Given the description of an element on the screen output the (x, y) to click on. 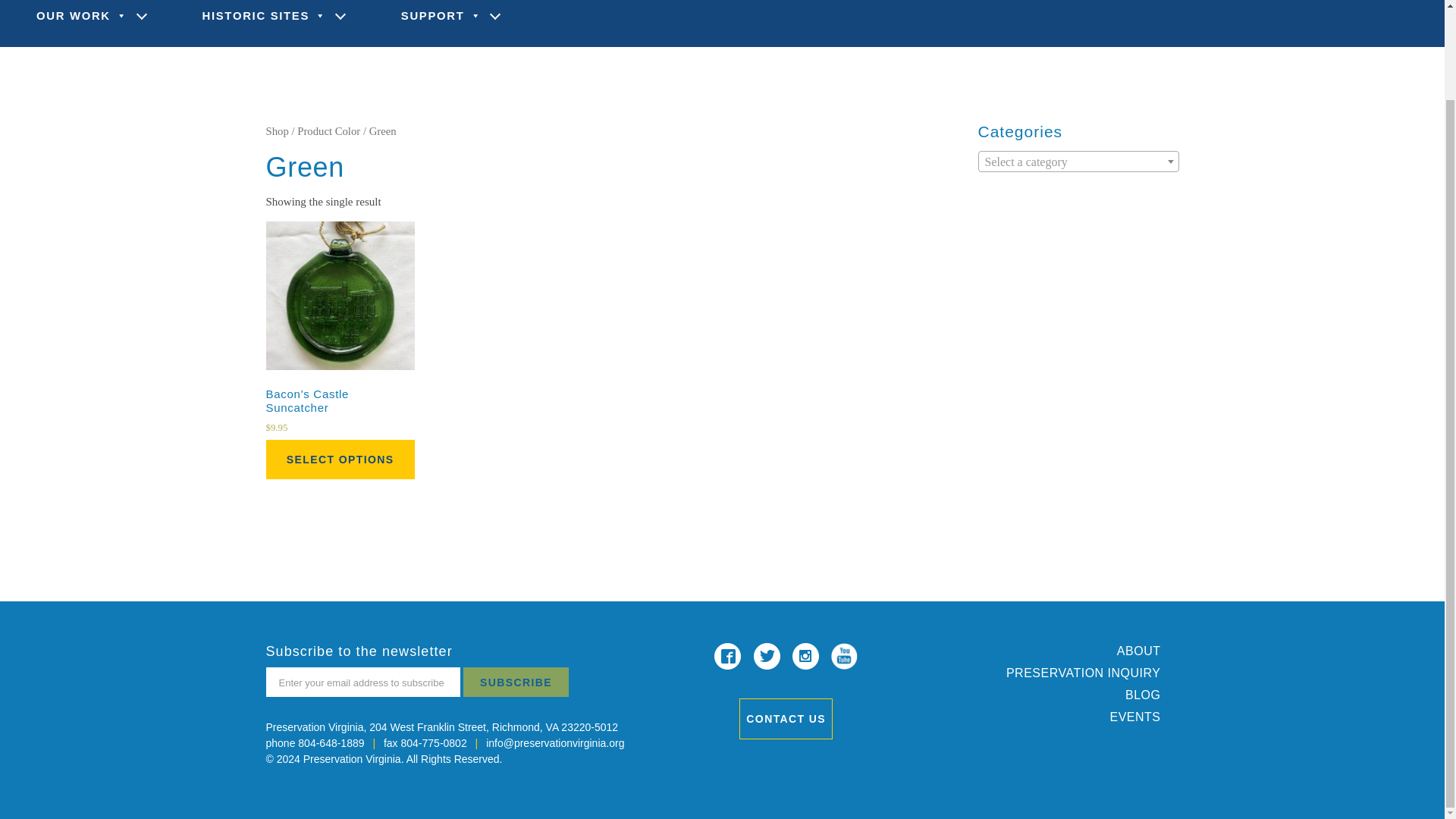
Subscribe (516, 681)
OUR WORK (82, 23)
